Given the description of an element on the screen output the (x, y) to click on. 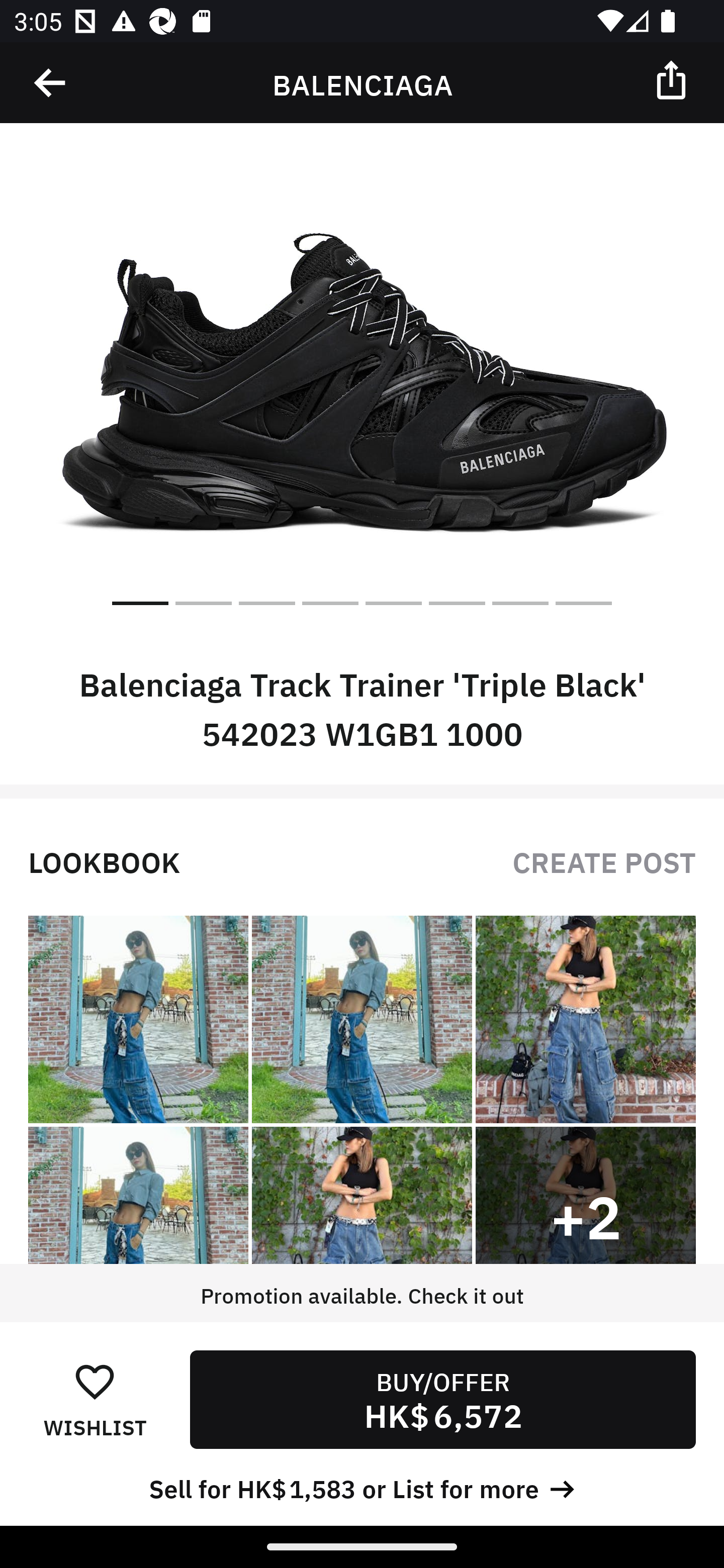
 (50, 83)
 (672, 79)
CREATE POST (603, 860)
BUY/OFFER HK$ 6,572 (442, 1399)
󰋕 (94, 1380)
Sell for HK$ 1,583 or List for more (361, 1486)
